Given the description of an element on the screen output the (x, y) to click on. 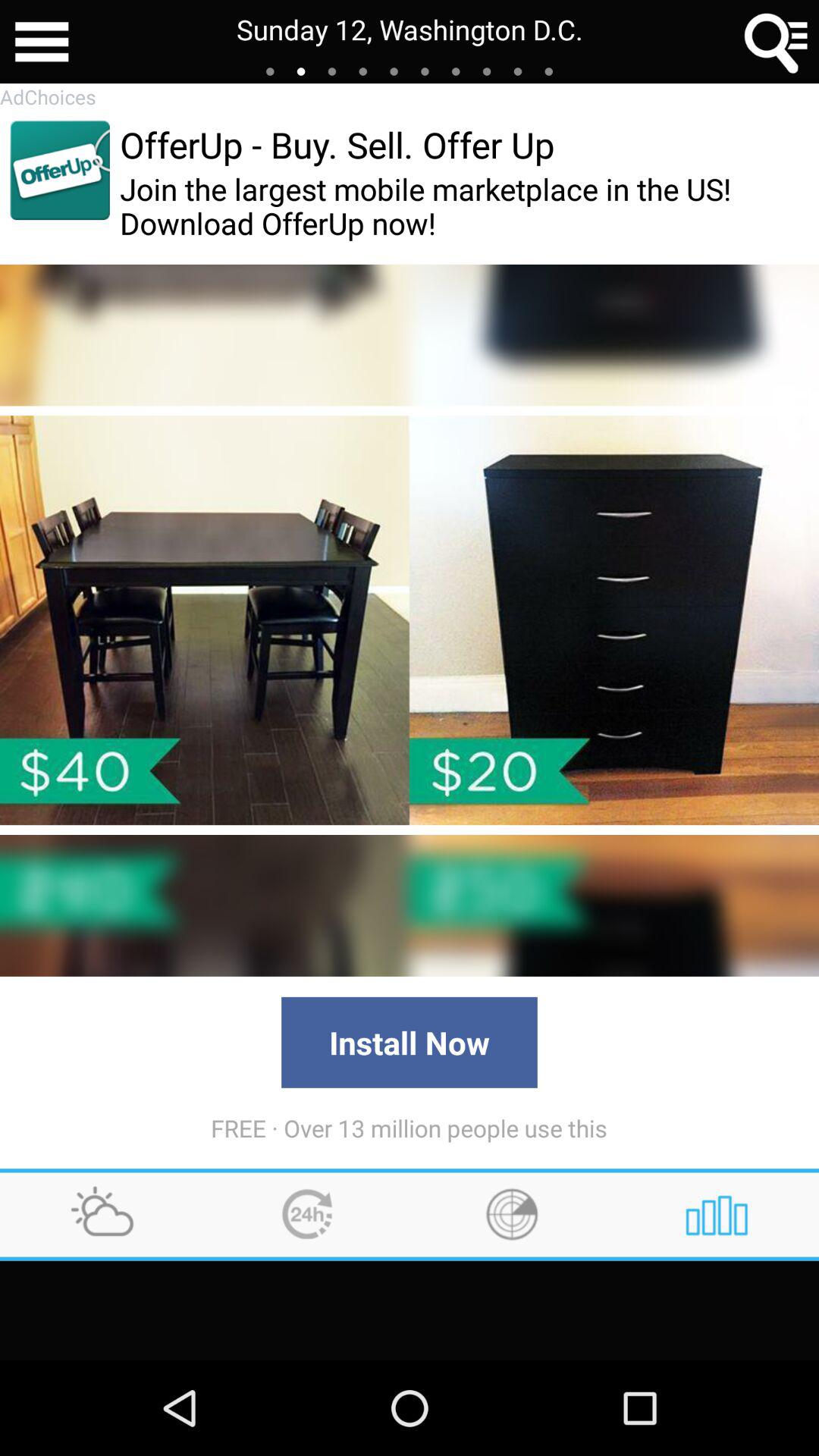
open offer up (59, 170)
